Given the description of an element on the screen output the (x, y) to click on. 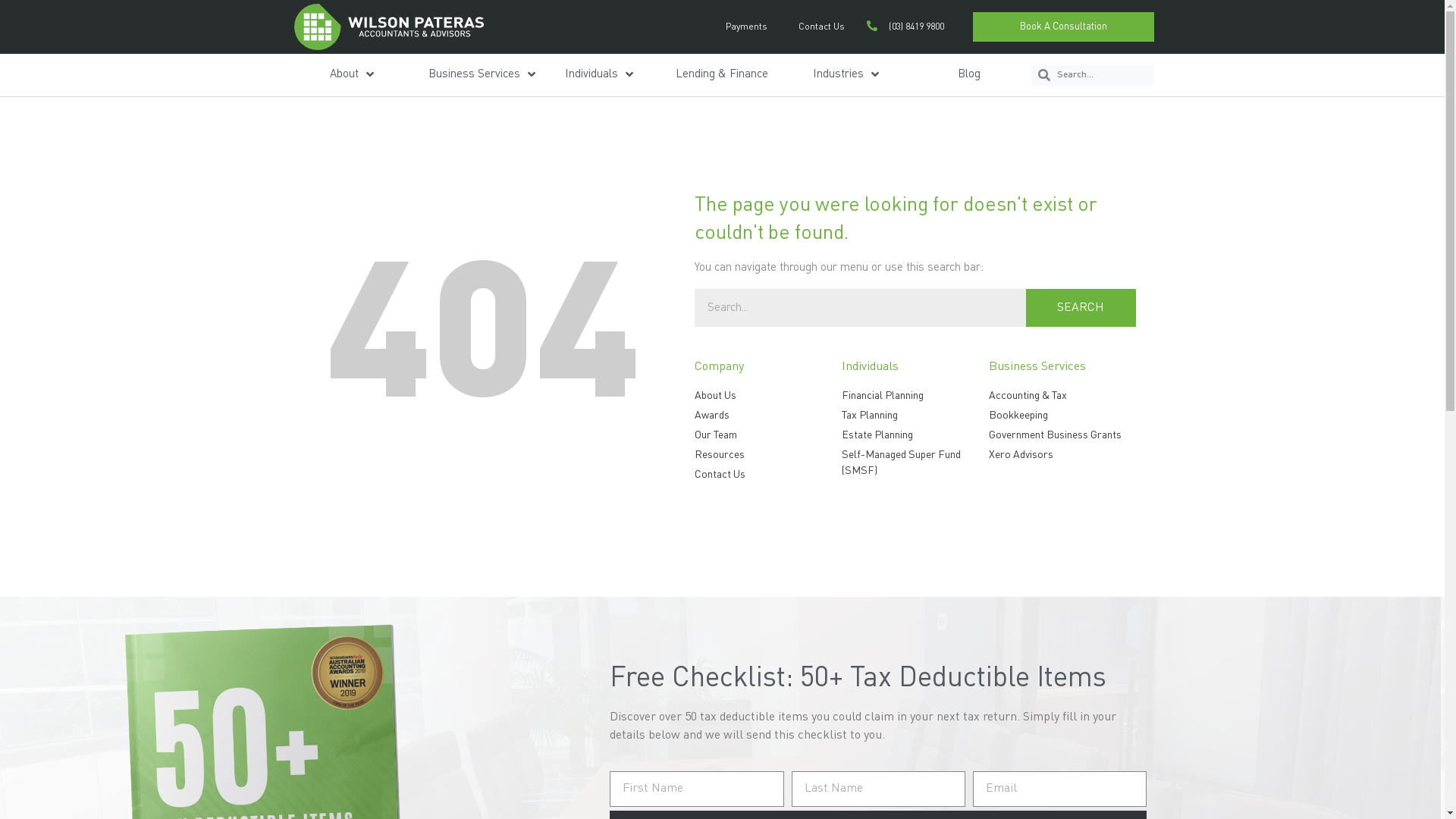
Tax Planning Element type: text (914, 415)
Government Business Grants Element type: text (1061, 435)
Bookkeeping Element type: text (1061, 415)
About Us Element type: text (767, 396)
Payments Element type: text (741, 27)
Search Element type: hover (859, 307)
Awards Element type: text (767, 415)
Financial Planning Element type: text (914, 396)
Industries Element type: text (845, 74)
Resources Element type: text (767, 455)
Blog Element type: text (968, 74)
Contact Us Element type: text (767, 475)
Book A Consultation Element type: text (1063, 26)
Lending & Finance Element type: text (721, 74)
Business Services Element type: text (481, 74)
Individuals Element type: text (598, 74)
About Element type: text (351, 74)
(03) 8419 9800 Element type: text (905, 27)
Xero Advisors Element type: text (1061, 455)
Our Team Element type: text (767, 435)
Accounting & Tax Element type: text (1061, 396)
Contact Us Element type: text (816, 27)
Self-Managed Super Fund (SMSF) Element type: text (914, 463)
Search Element type: hover (1102, 75)
Estate Planning Element type: text (914, 435)
SEARCH Element type: text (1080, 307)
